Given the description of an element on the screen output the (x, y) to click on. 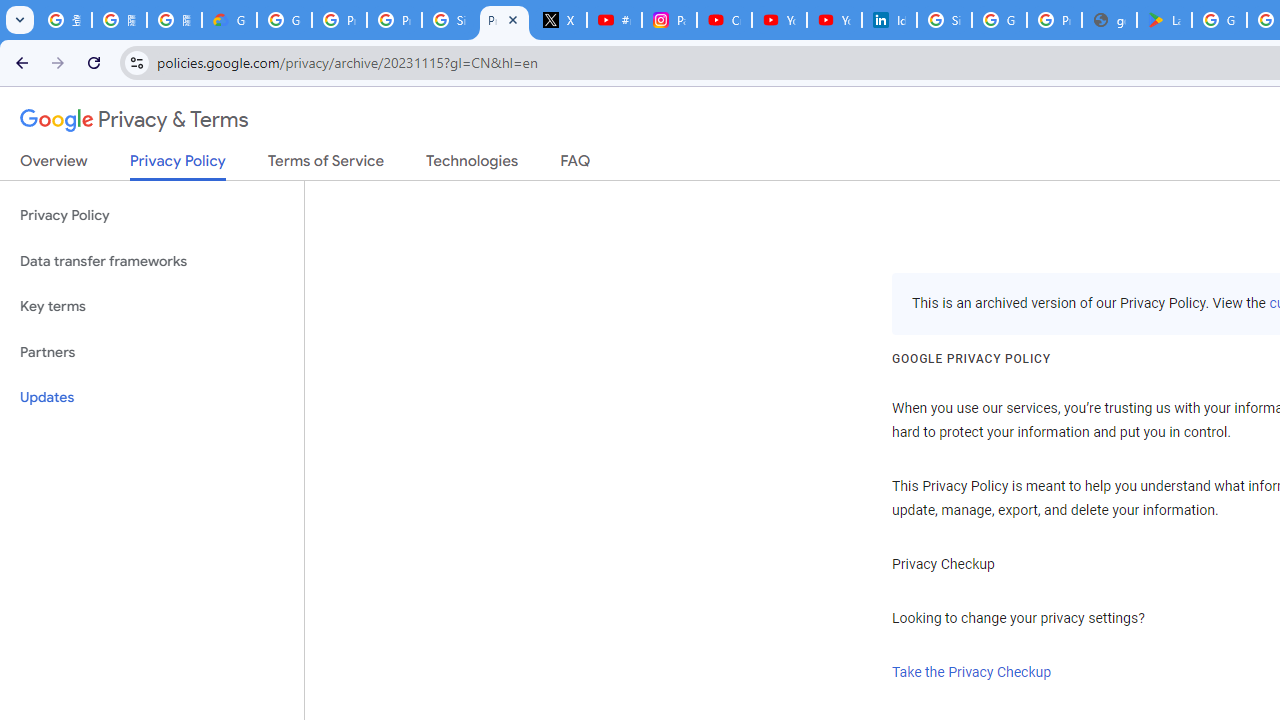
Last Shelter: Survival - Apps on Google Play (1163, 20)
Partners (152, 352)
